Given the description of an element on the screen output the (x, y) to click on. 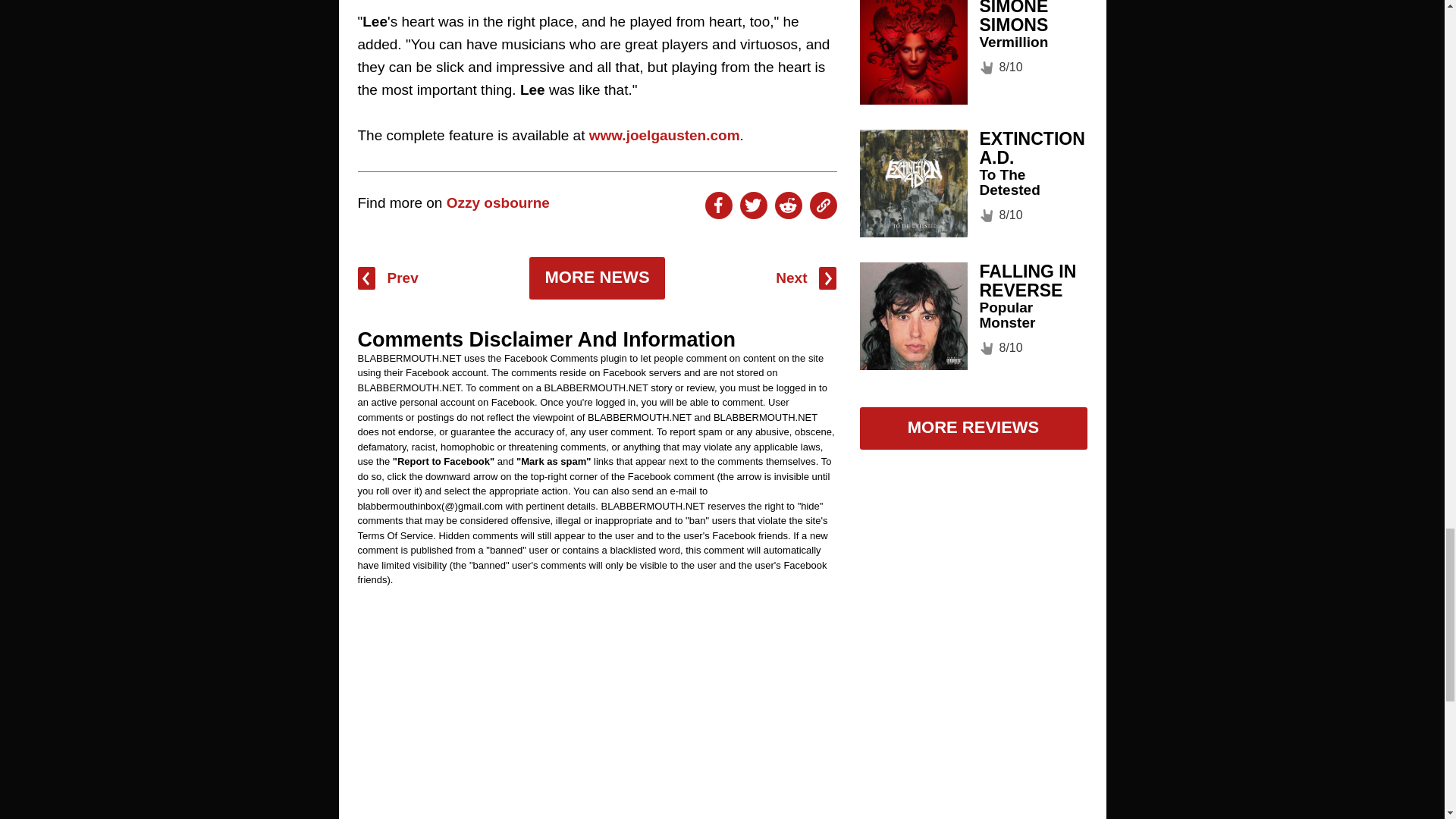
Prev (388, 277)
Ozzy osbourne (498, 202)
Copy To Clipboard (823, 205)
Share On Facebook (718, 205)
MORE NEWS (596, 278)
www.joelgausten.com (664, 135)
Share On Reddit (788, 205)
Share On Twitter (753, 205)
Next (805, 277)
